Given the description of an element on the screen output the (x, y) to click on. 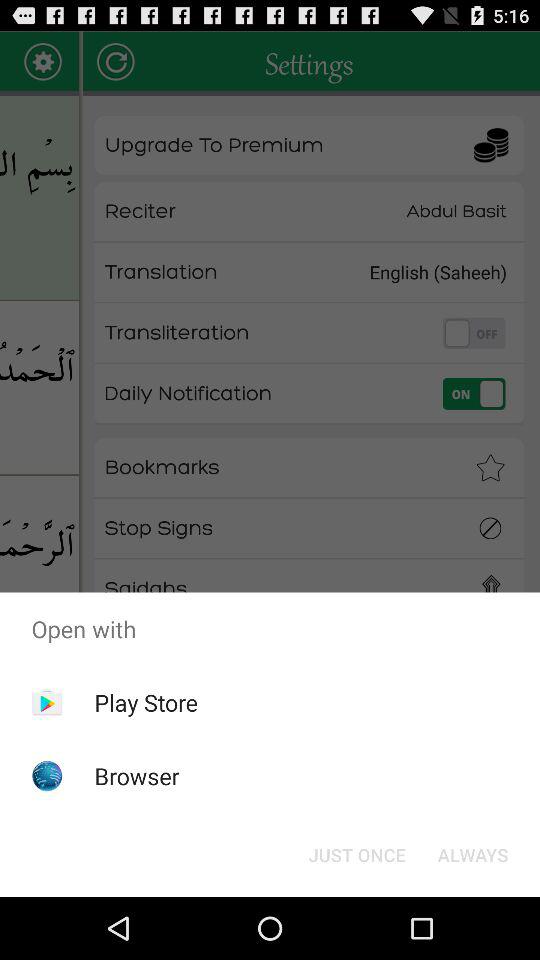
swipe to always icon (472, 854)
